Given the description of an element on the screen output the (x, y) to click on. 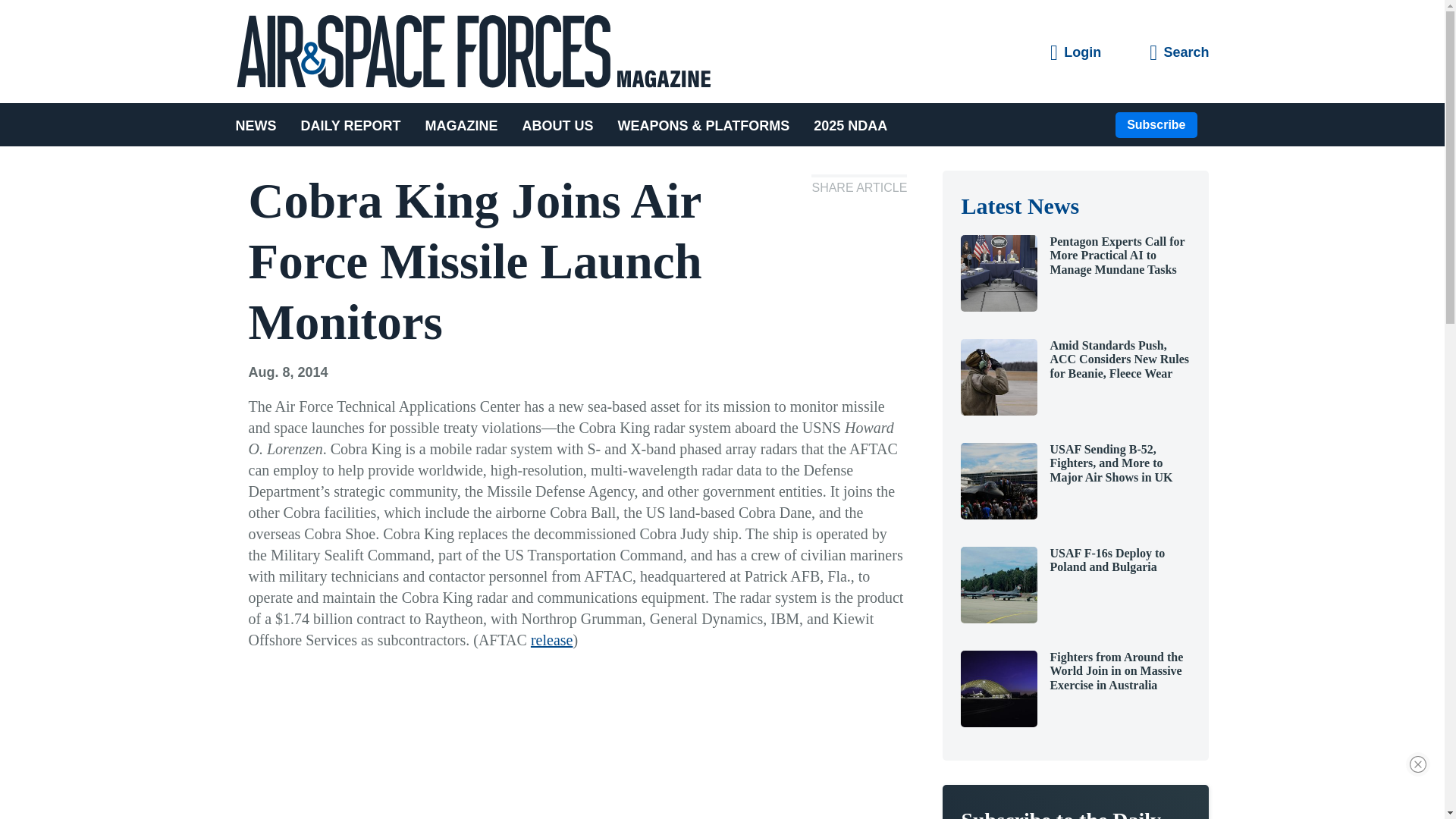
MAGAZINE (462, 124)
USAF F-16s Deploy to Poland and Bulgaria (1106, 560)
Login (1074, 52)
NEWS (261, 124)
Search (1179, 52)
ABOUT US (558, 124)
DAILY REPORT (350, 124)
